Given the description of an element on the screen output the (x, y) to click on. 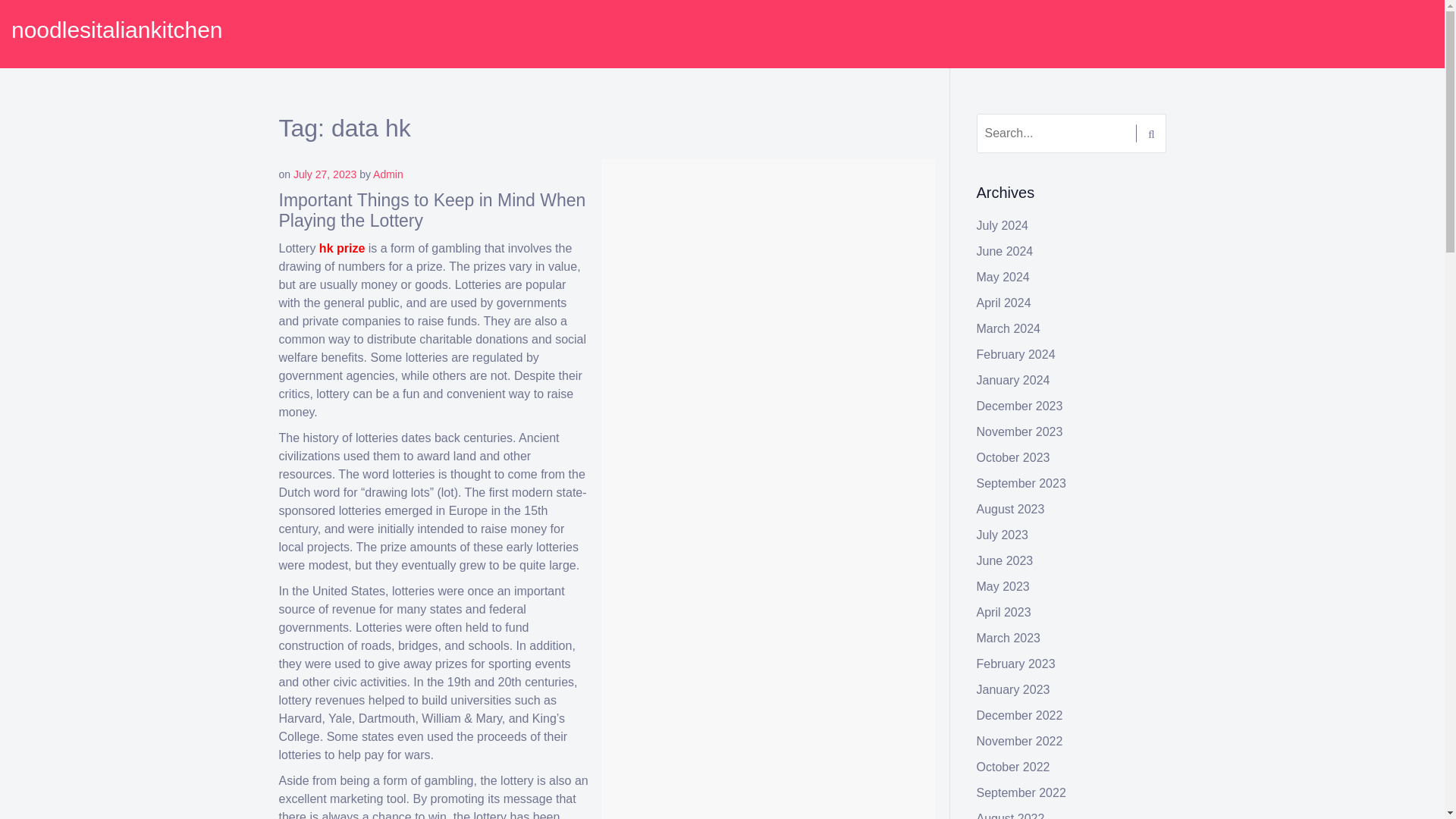
March 2023 (1008, 637)
November 2022 (1019, 740)
November 2023 (1019, 431)
September 2022 (1020, 792)
Admin (722, 174)
April 2024 (1003, 302)
January 2023 (1012, 689)
October 2023 (1012, 457)
Admin (387, 174)
togel sdy (698, 511)
June 2024 (1004, 250)
August 2022 (1010, 815)
October 2022 (1012, 766)
January 2024 (1012, 379)
December 2023 (1019, 405)
